Given the description of an element on the screen output the (x, y) to click on. 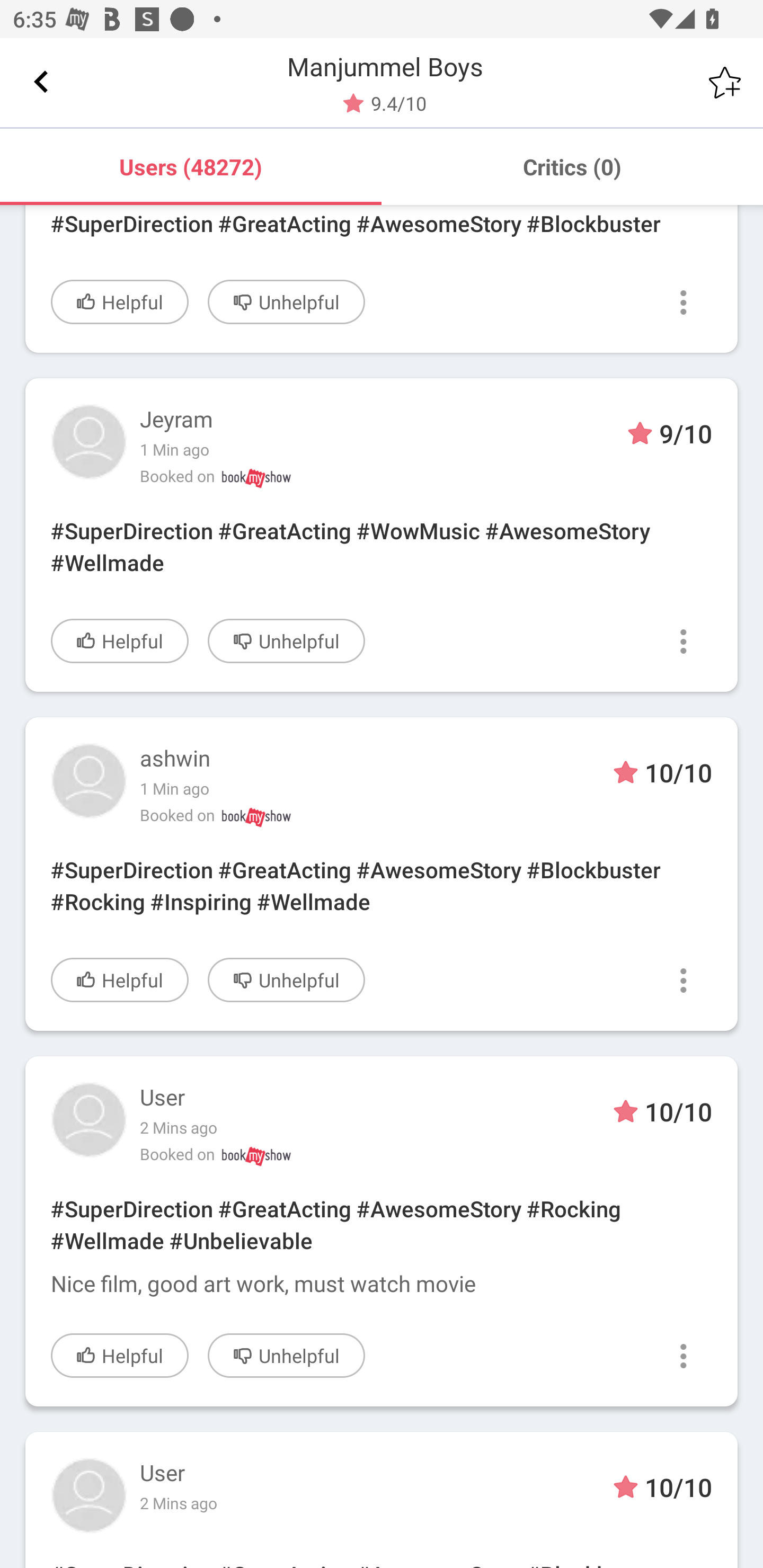
Back (41, 82)
Critics (0) (572, 166)
Helpful (119, 301)
Unhelpful (285, 301)
Helpful (119, 641)
Unhelpful (285, 641)
Helpful (119, 979)
Unhelpful (285, 979)
Helpful (119, 1355)
Unhelpful (285, 1355)
